Given the description of an element on the screen output the (x, y) to click on. 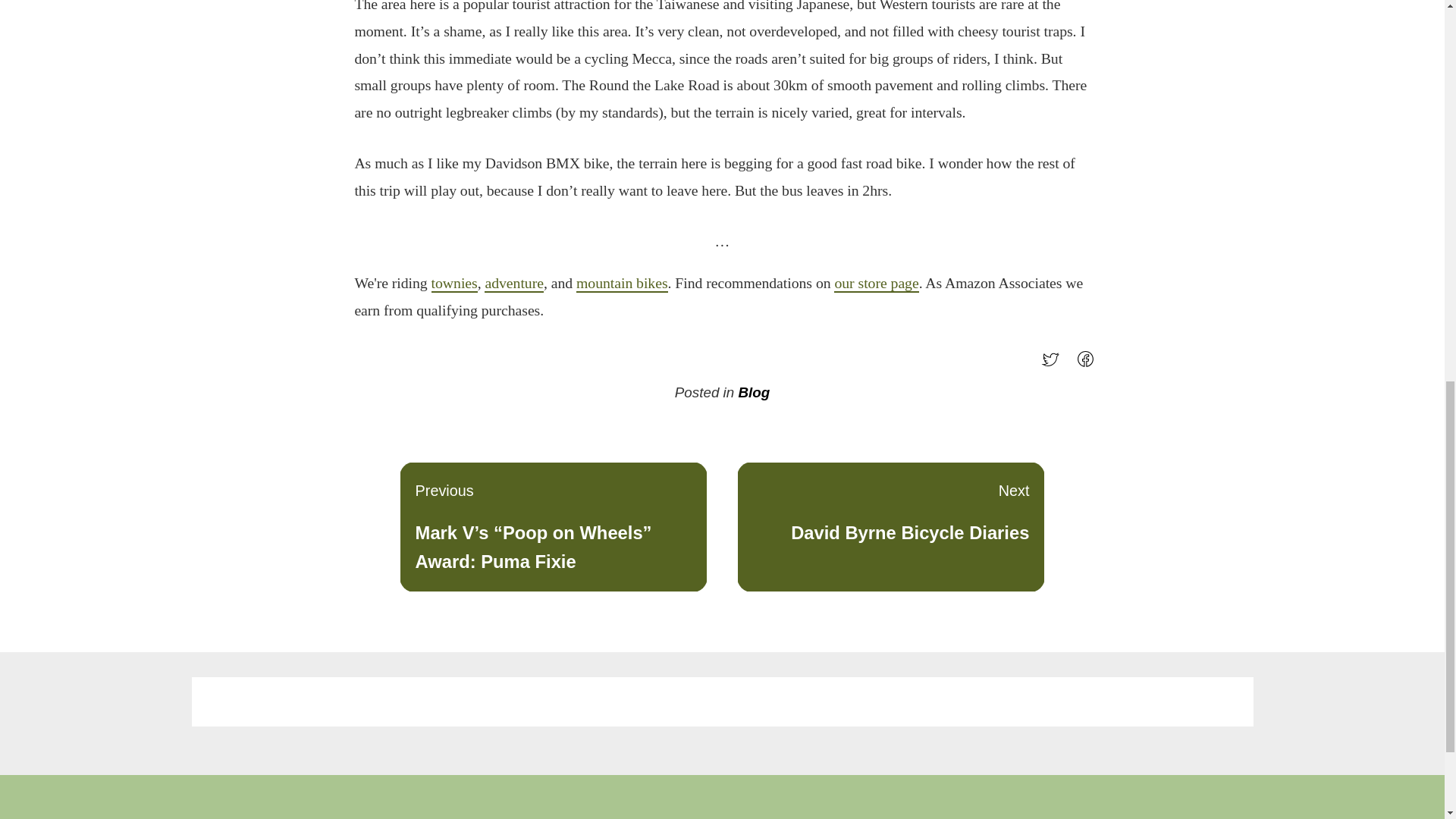
townies (453, 283)
Blog (754, 392)
mountain bikes (890, 526)
our store page (622, 283)
adventure (876, 283)
Share on Facebook (513, 283)
Tweet (1089, 364)
